Given the description of an element on the screen output the (x, y) to click on. 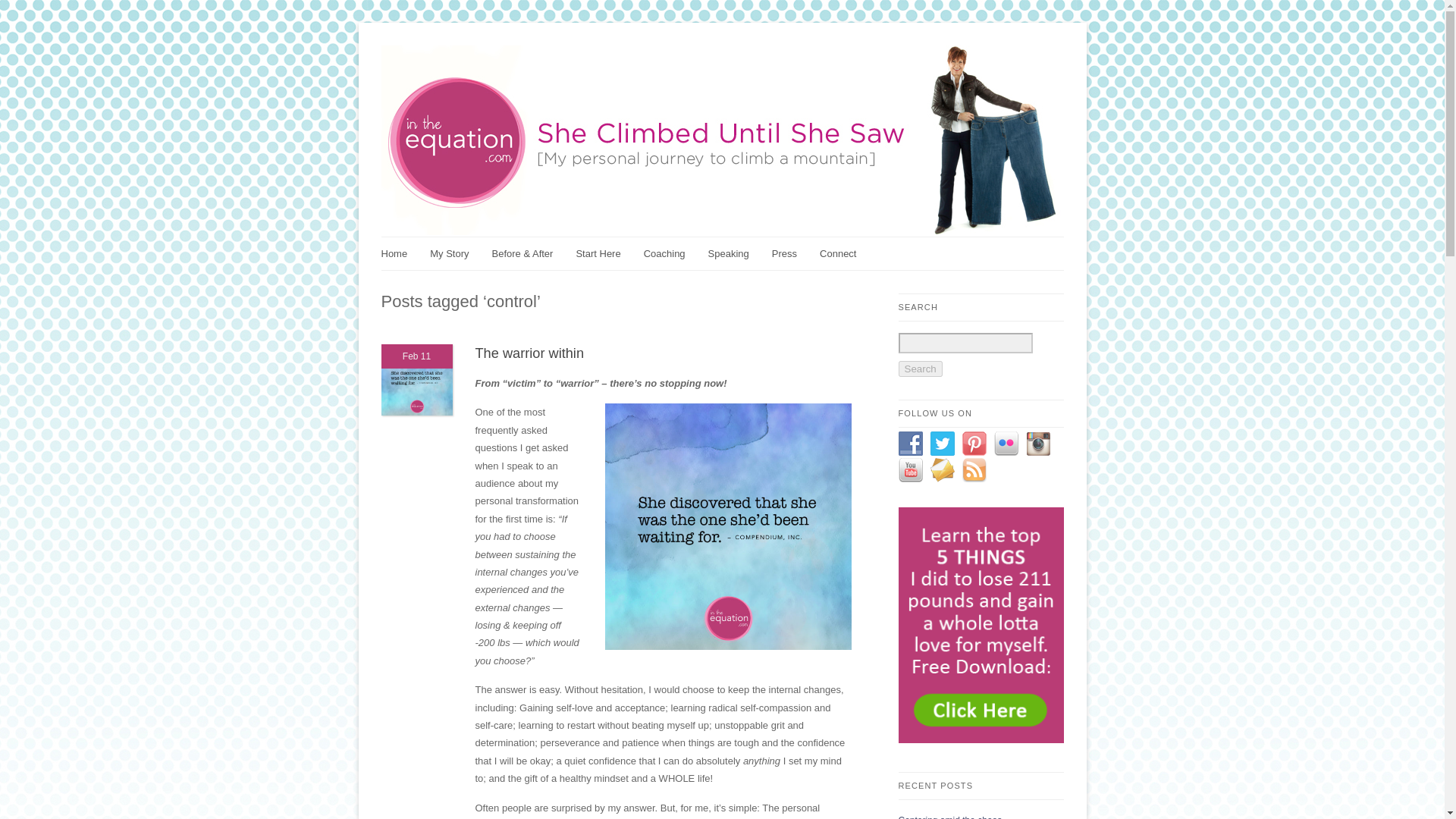
My Story (456, 253)
Follow Us on YouTube (909, 469)
Search (920, 368)
Start Here (604, 253)
In the Equation (456, 253)
Home (401, 253)
Follow Us on E-mail (941, 469)
Coaching (671, 253)
Search (920, 368)
Follow Us on RSS (972, 469)
